Given the description of an element on the screen output the (x, y) to click on. 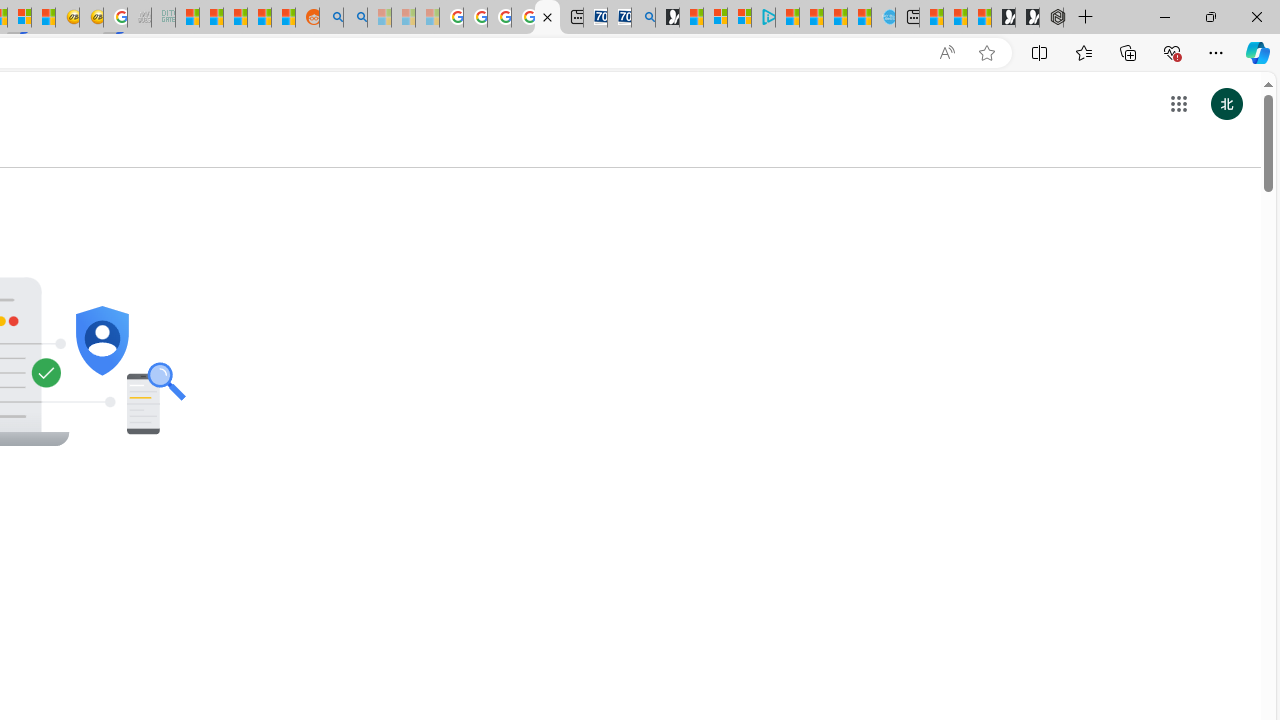
Home | Sky Blue Bikes - Sky Blue Bikes (882, 17)
Bing Real Estate - Home sales and rental listings (643, 17)
Cheap Car Rentals - Save70.com (619, 17)
